Given the description of an element on the screen output the (x, y) to click on. 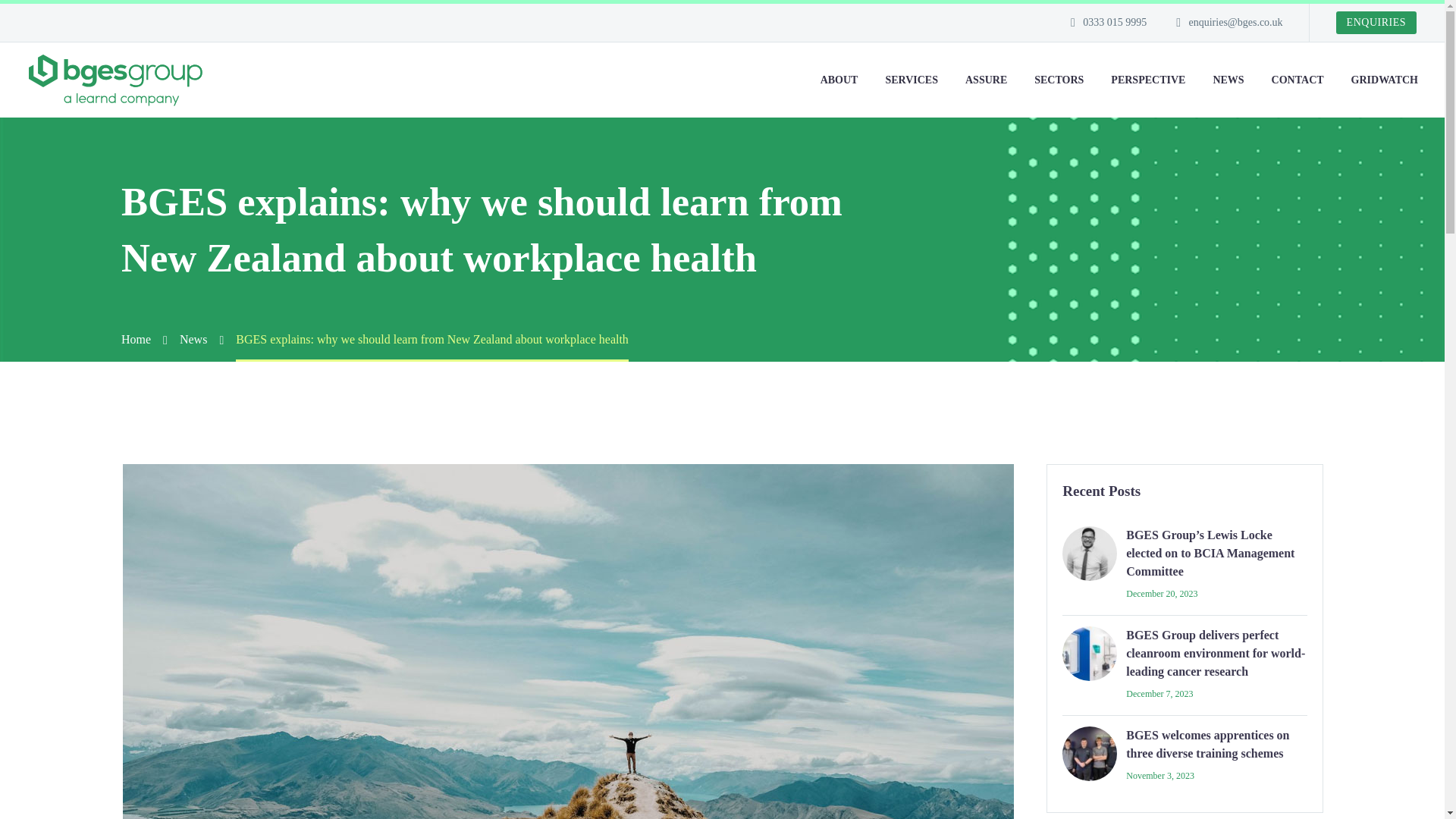
ASSURE (985, 79)
ENQUIRIES (1376, 22)
SERVICES (911, 79)
ABOUT (839, 79)
0333 015 9995 (1115, 21)
